Given the description of an element on the screen output the (x, y) to click on. 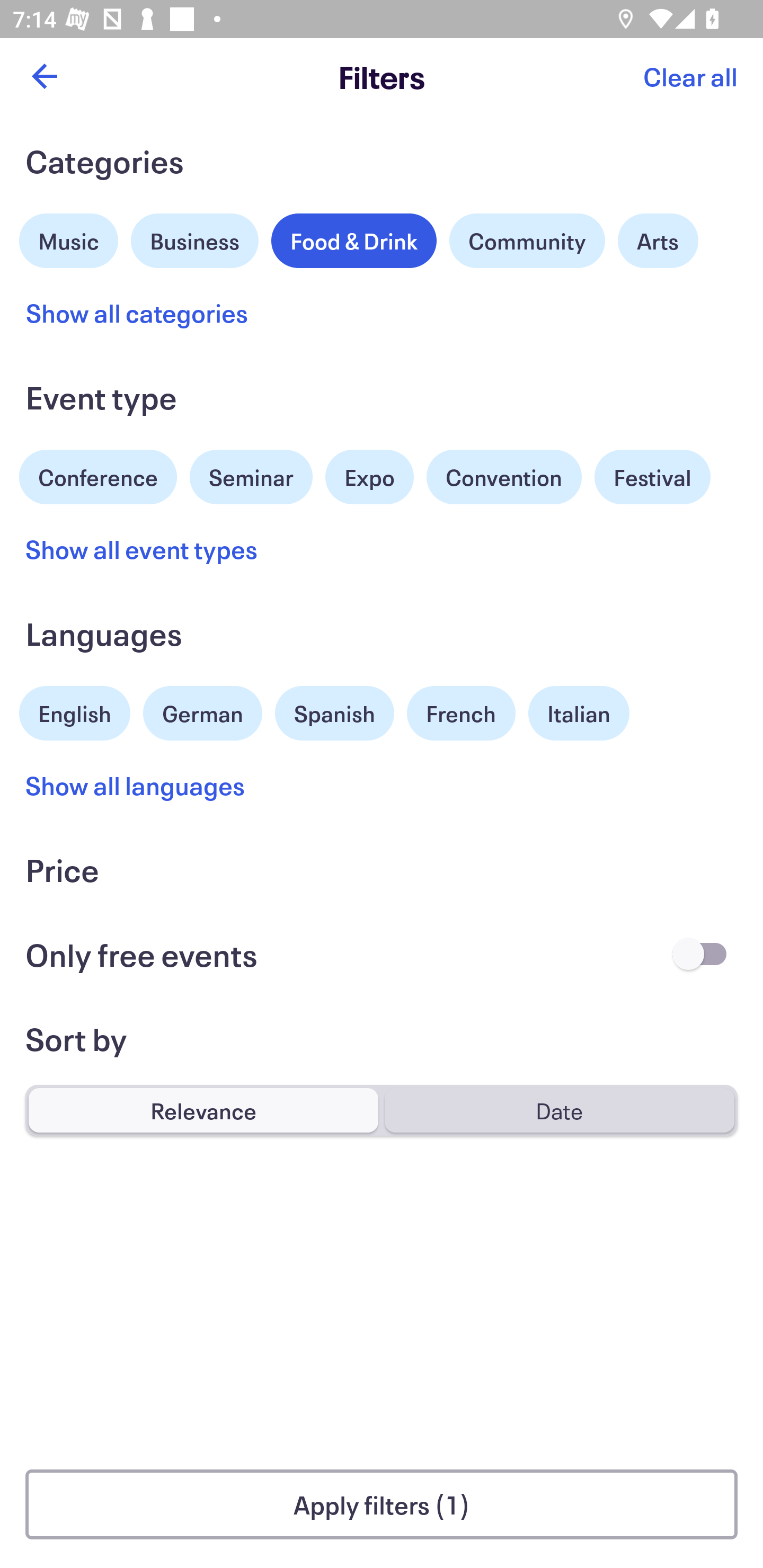
Back button (44, 75)
Clear all (690, 75)
Music (68, 238)
Business (194, 238)
Food & Drink (353, 240)
Community (527, 240)
Arts (658, 240)
Show all categories (136, 312)
Conference (98, 475)
Seminar (250, 477)
Expo (369, 477)
Convention (503, 477)
Festival (652, 477)
Show all event types (141, 548)
English (74, 710)
German (202, 710)
Spanish (334, 713)
French (460, 713)
Italian (578, 713)
Show all languages (135, 784)
Relevance (203, 1109)
Date (559, 1109)
Apply filters (1) (381, 1504)
